Given the description of an element on the screen output the (x, y) to click on. 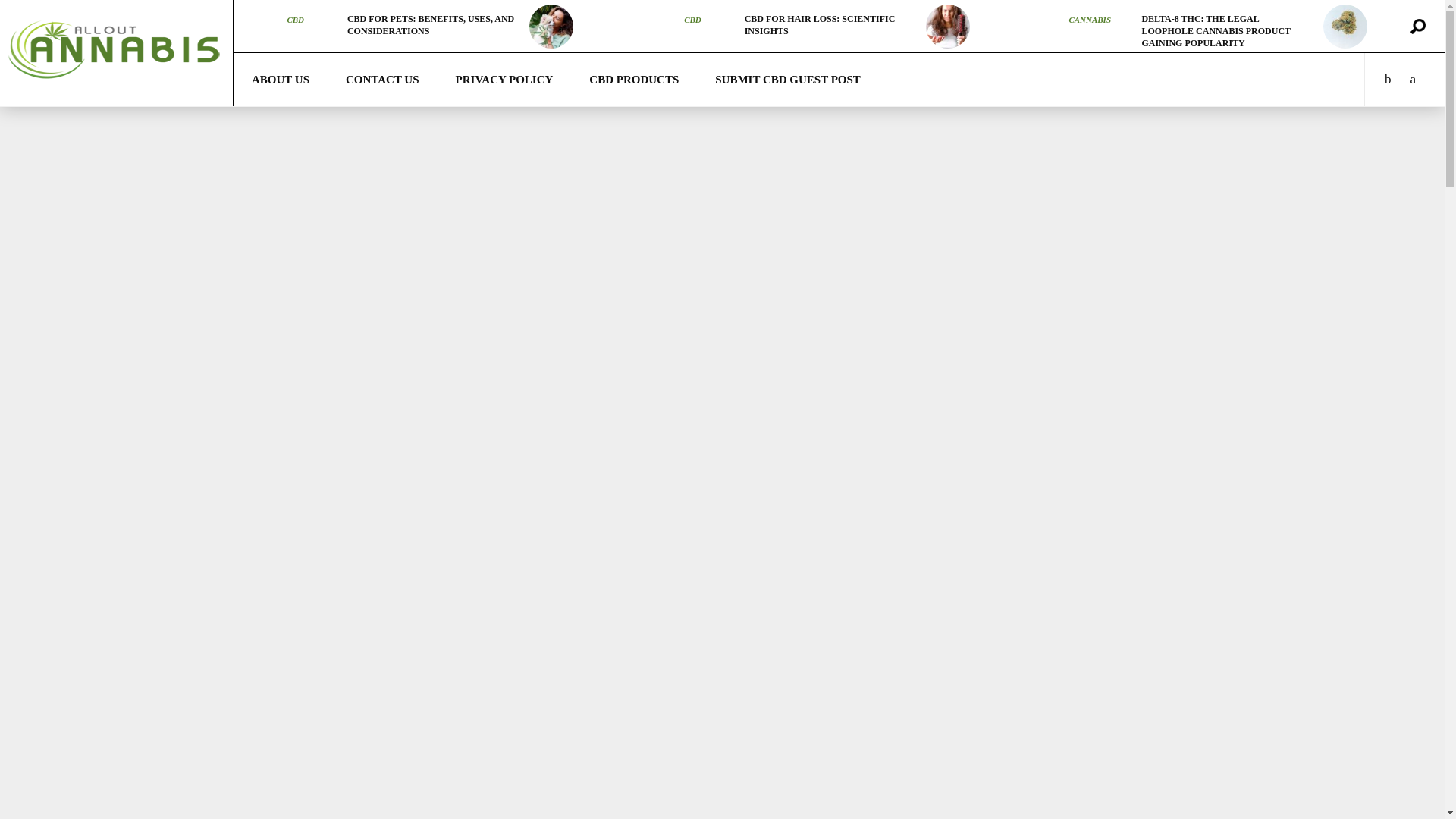
CBD (692, 19)
CONTACT US (382, 79)
CBD Products (633, 79)
CBD for Pets: Benefits, Uses, and Considerations (551, 26)
CBD FOR PETS: BENEFITS, USES, AND CONSIDERATIONS (430, 24)
CBD for Hair Loss: Scientific Insights (819, 24)
CBD (295, 19)
Submit CBD Guest Post (788, 79)
PRIVACY POLICY (505, 79)
SUBMIT CBD GUEST POST (788, 79)
ABOUT US (279, 79)
CBD for Pets: Benefits, Uses, and Considerations (430, 24)
CBD (295, 19)
